Given the description of an element on the screen output the (x, y) to click on. 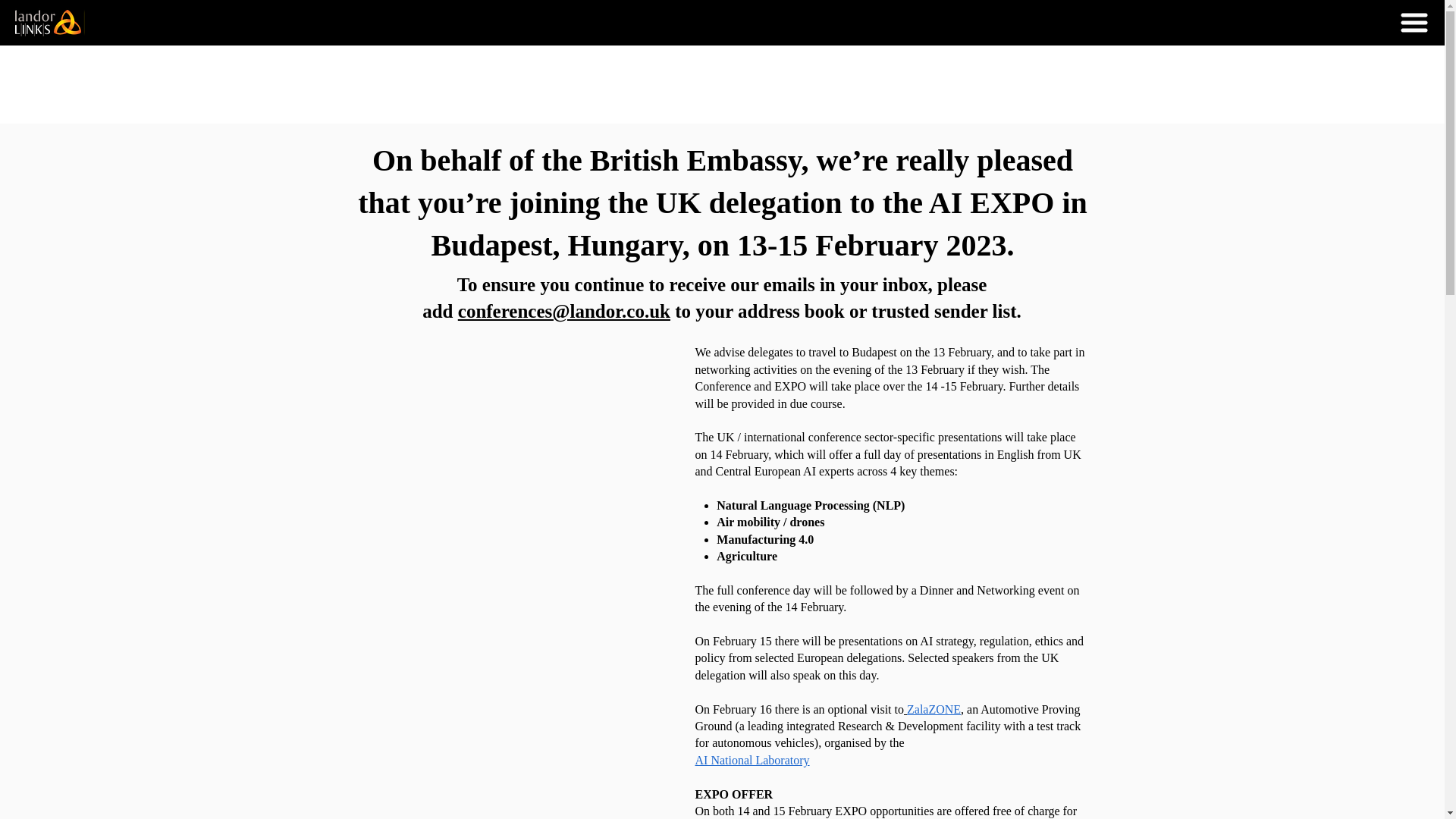
Landor LINKS LIVE: View Coming Events (49, 22)
Main Menu (1414, 22)
AI National Laboratory (751, 759)
ZalaZONE (933, 708)
